Given the description of an element on the screen output the (x, y) to click on. 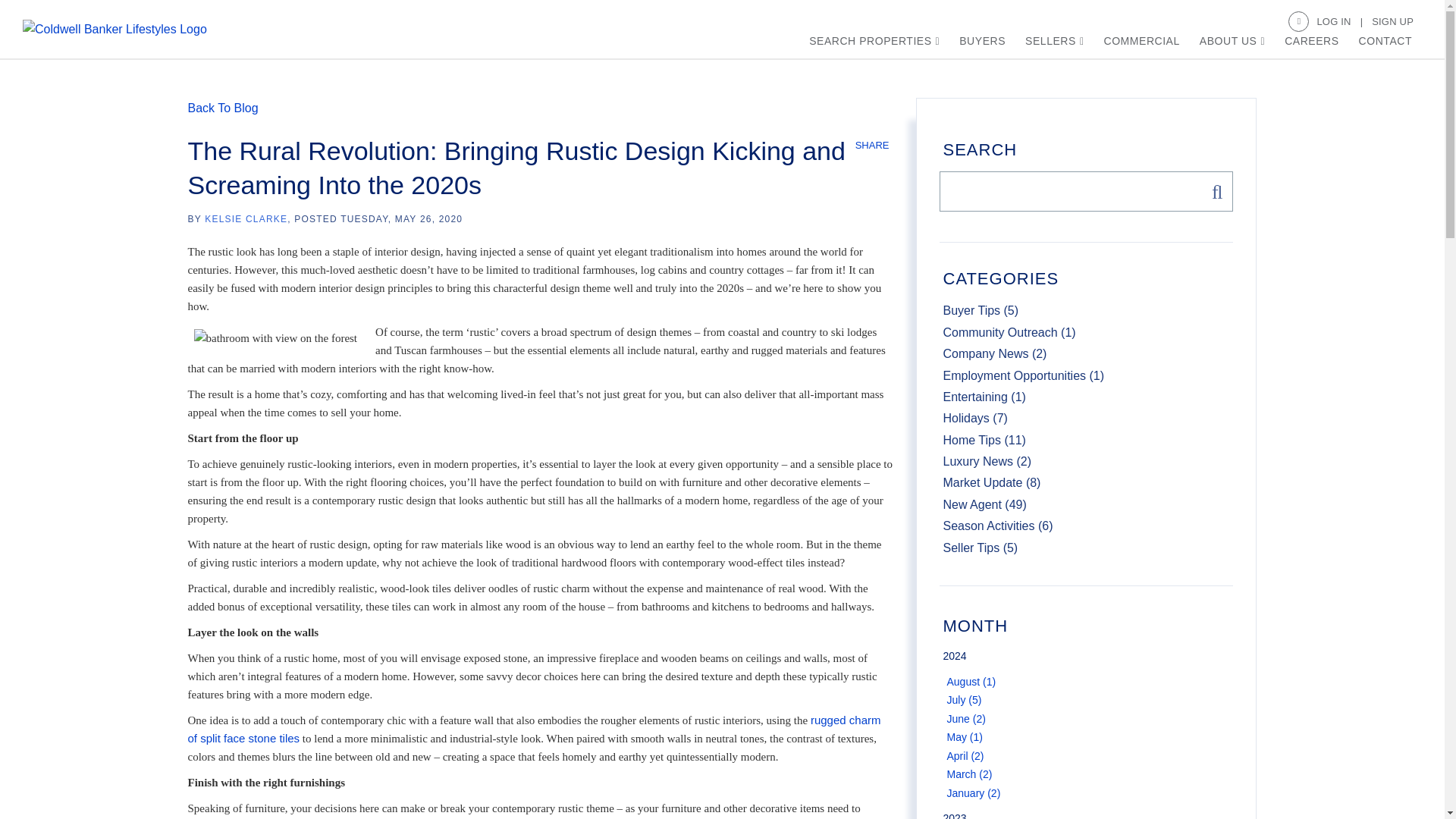
LOG IN (1339, 21)
BUYERS (982, 40)
SELLERS (1054, 41)
SIGN UP (1392, 21)
Search (1212, 191)
ABOUT US (1232, 41)
SEARCH PROPERTIES (874, 41)
COMMERCIAL (1141, 40)
